Given the description of an element on the screen output the (x, y) to click on. 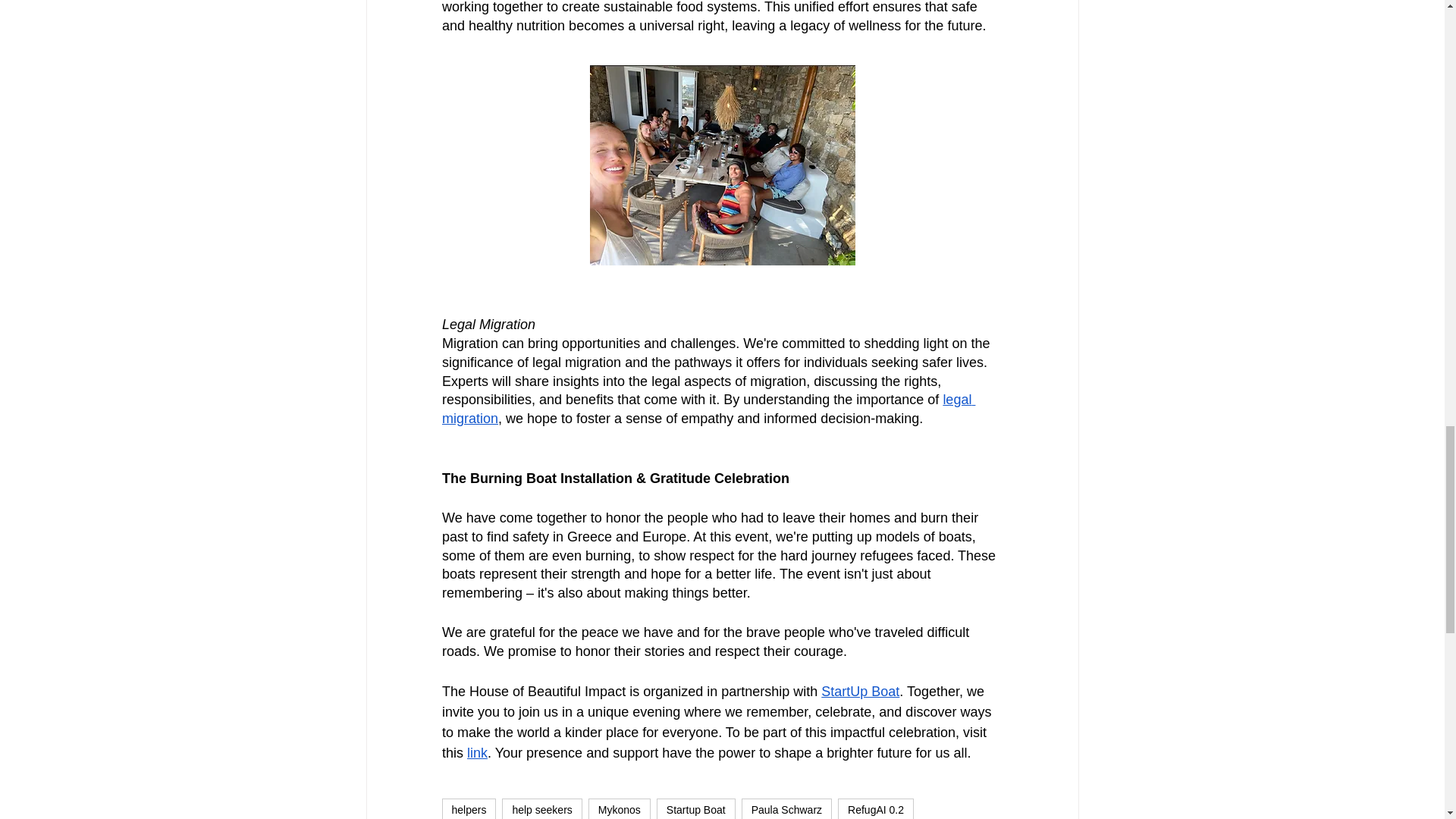
legal migration (707, 408)
Mykonos (619, 808)
RefugAI 0.2 (876, 808)
helpers (468, 808)
Paula Schwarz (786, 808)
link (477, 752)
help seekers (541, 808)
StartUp Boat (860, 691)
Startup Boat (695, 808)
